Given the description of an element on the screen output the (x, y) to click on. 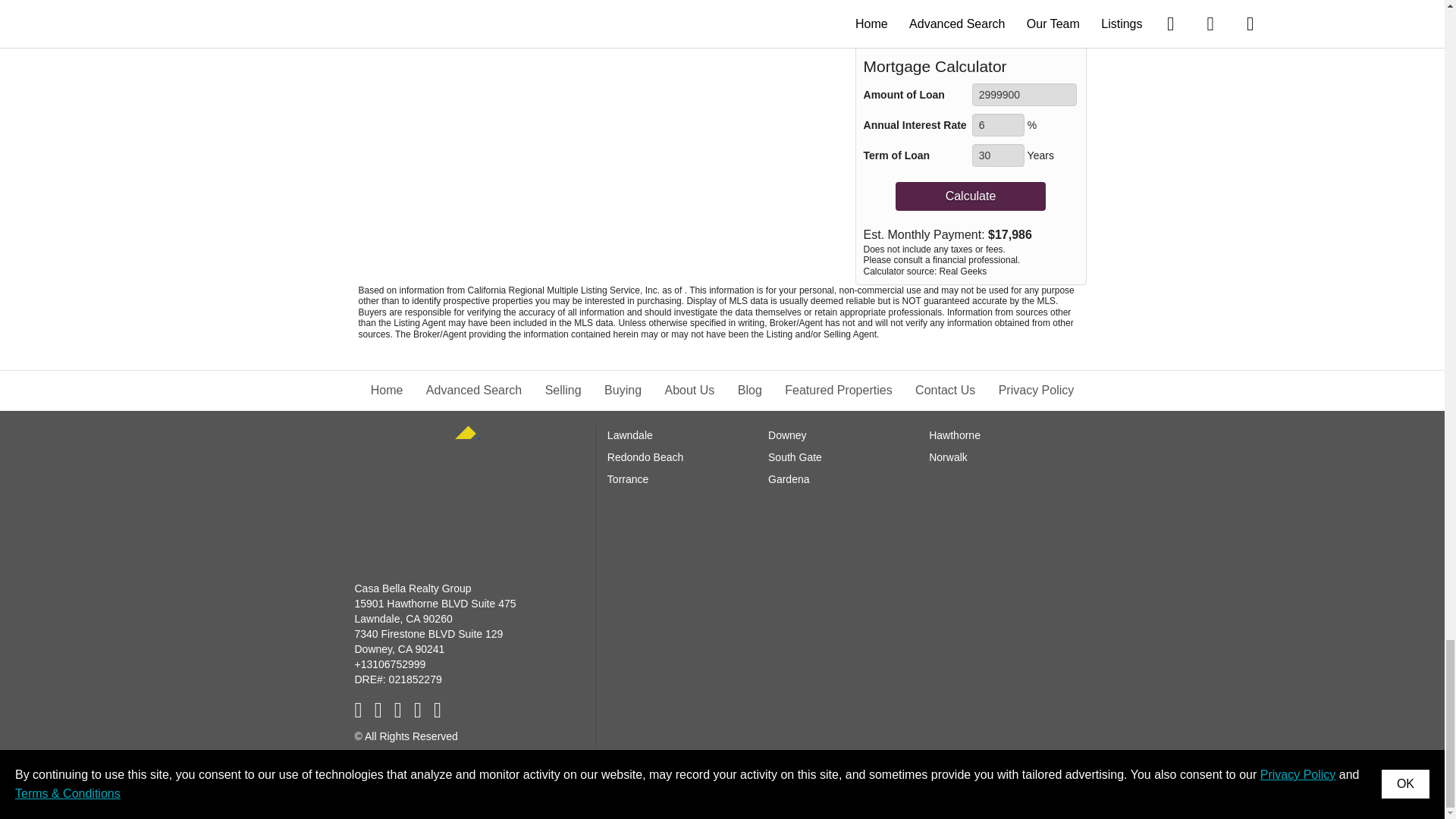
2999900 (1024, 94)
30 (998, 155)
6 (998, 124)
